Given the description of an element on the screen output the (x, y) to click on. 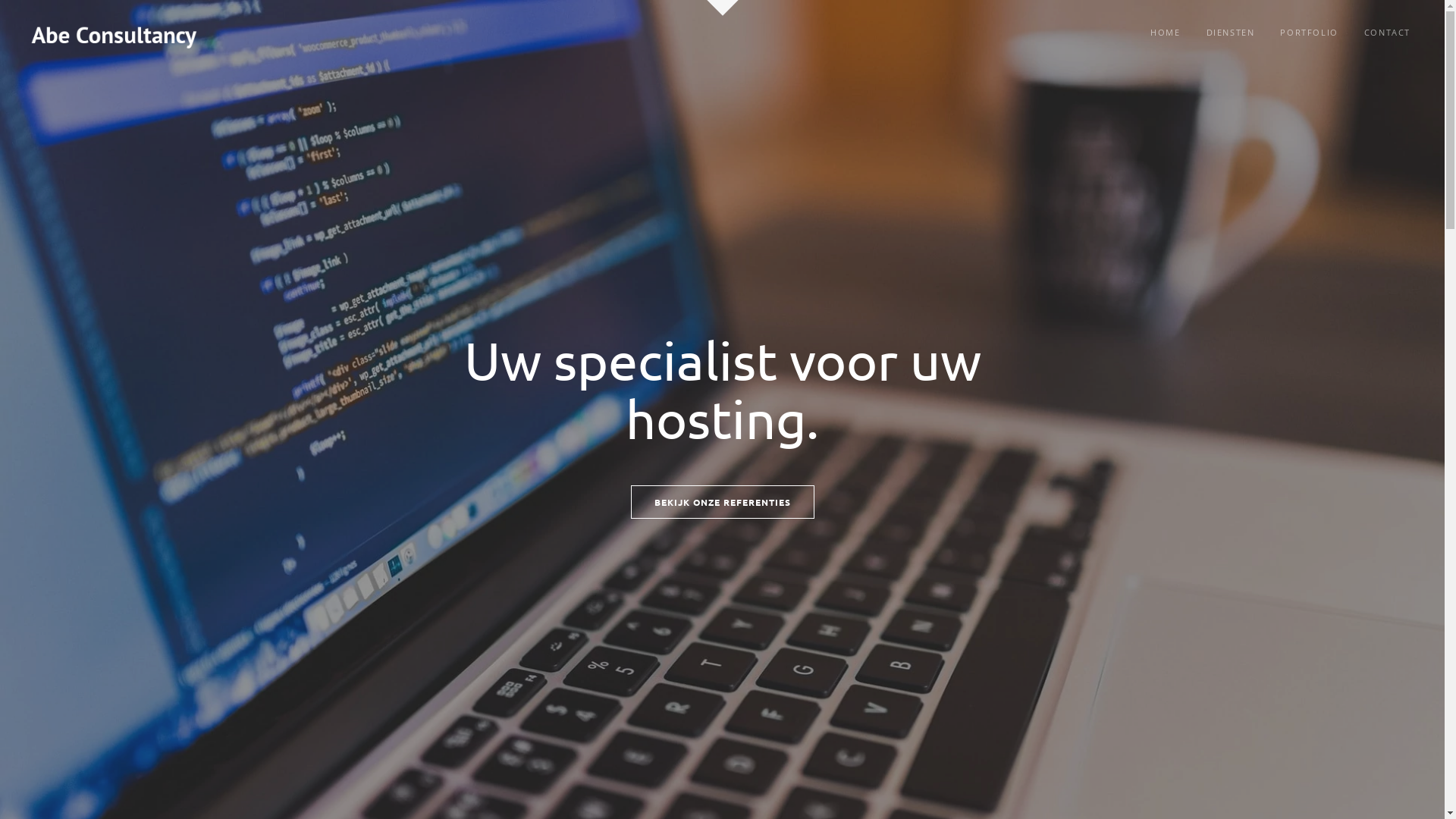
PORTFOLIO Element type: text (1308, 32)
HOME Element type: text (1165, 32)
CONTACT Element type: text (1386, 32)
BEKIJK ONZE REFERENTIES Element type: text (722, 501)
DIENSTEN Element type: text (1230, 32)
